Given the description of an element on the screen output the (x, y) to click on. 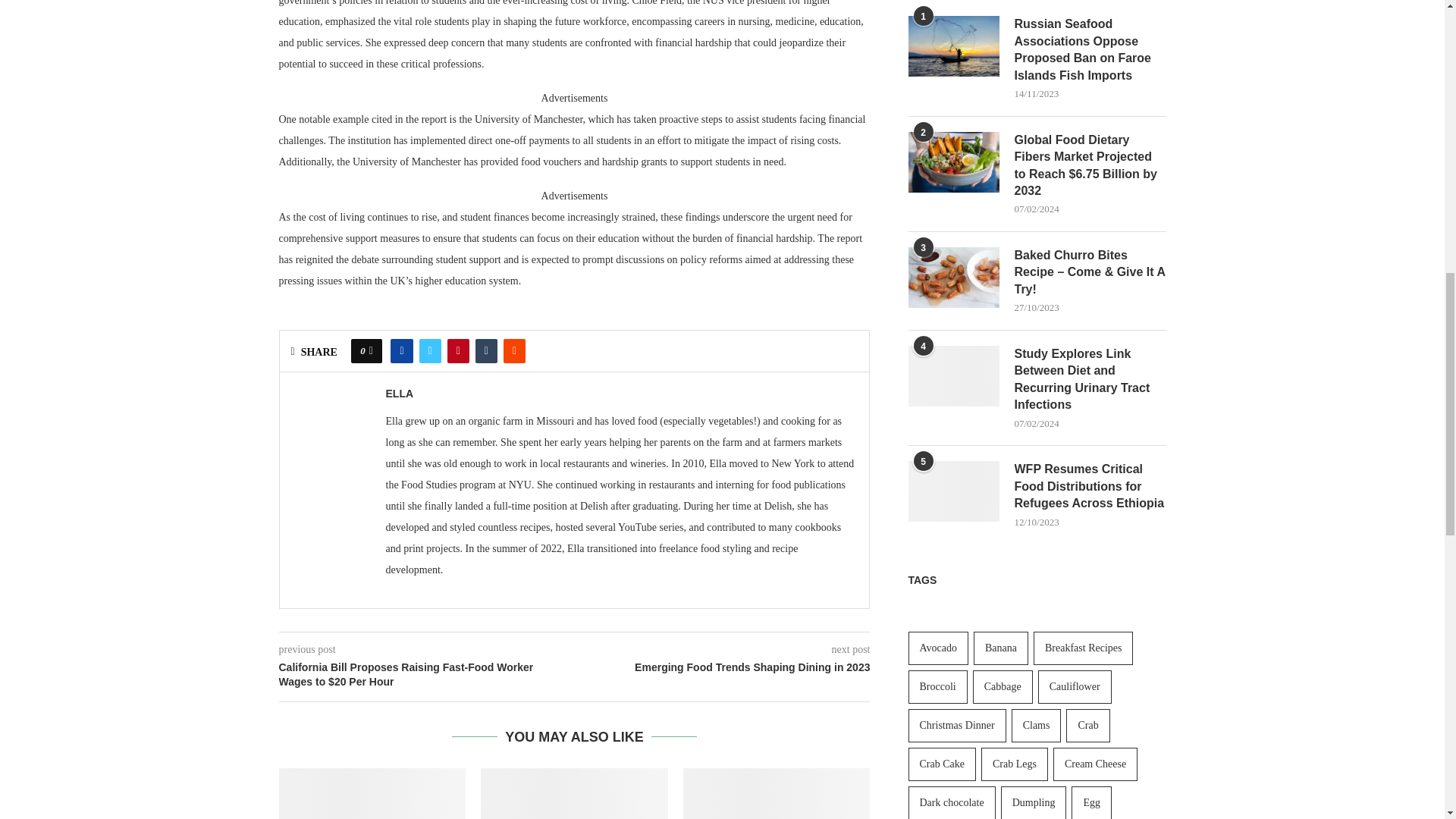
Author Ella (399, 393)
